Given the description of an element on the screen output the (x, y) to click on. 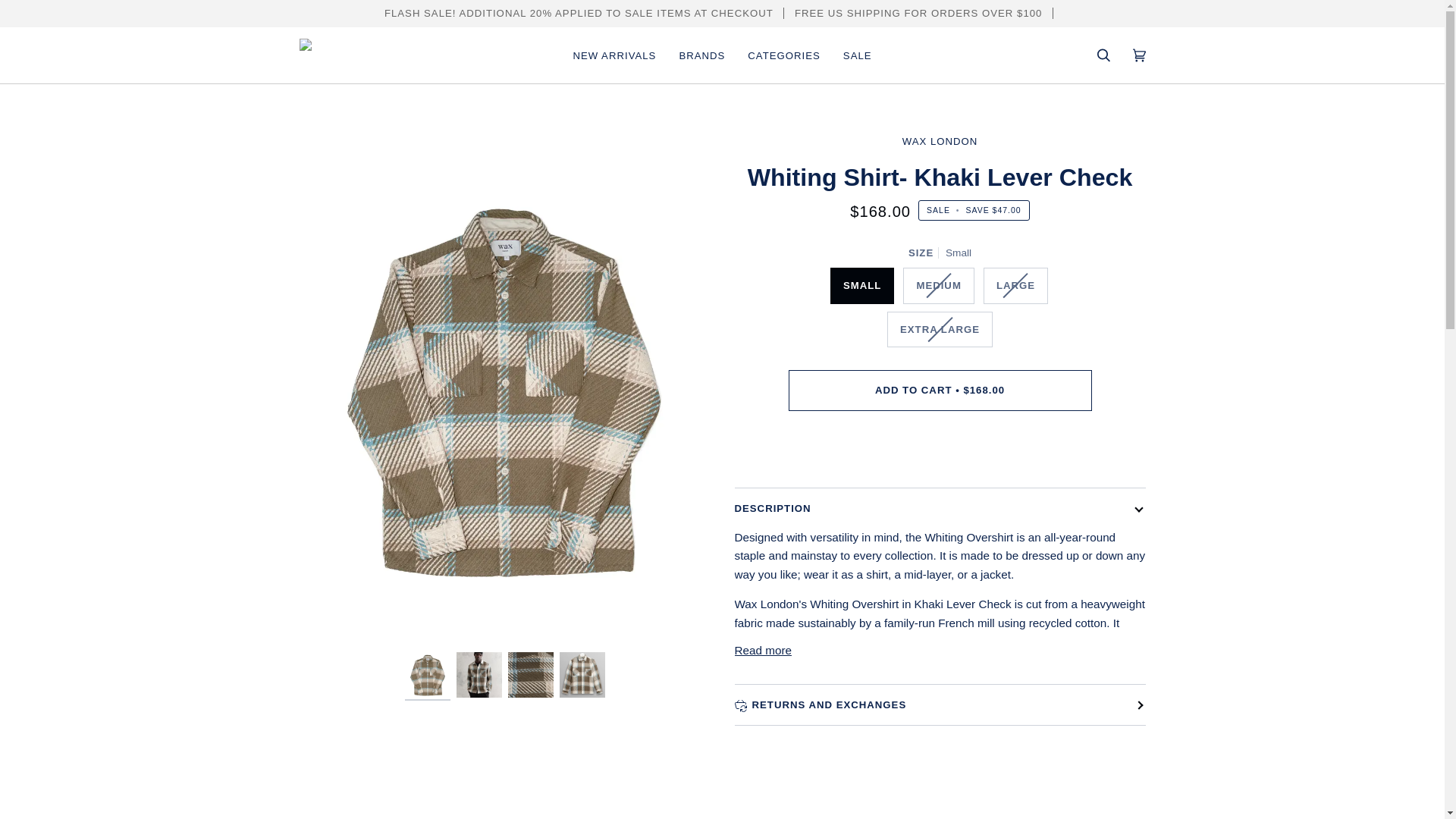
Calypso II Tee- Brown (1266, 146)
Brands (151, 59)
Sale (290, 59)
Facebook (50, 15)
Eames NW on Facebook (50, 15)
Eames NW on Pinterest (88, 15)
Categories (223, 59)
Search (1315, 58)
Eames NW (721, 59)
Cart (1377, 58)
